Given the description of an element on the screen output the (x, y) to click on. 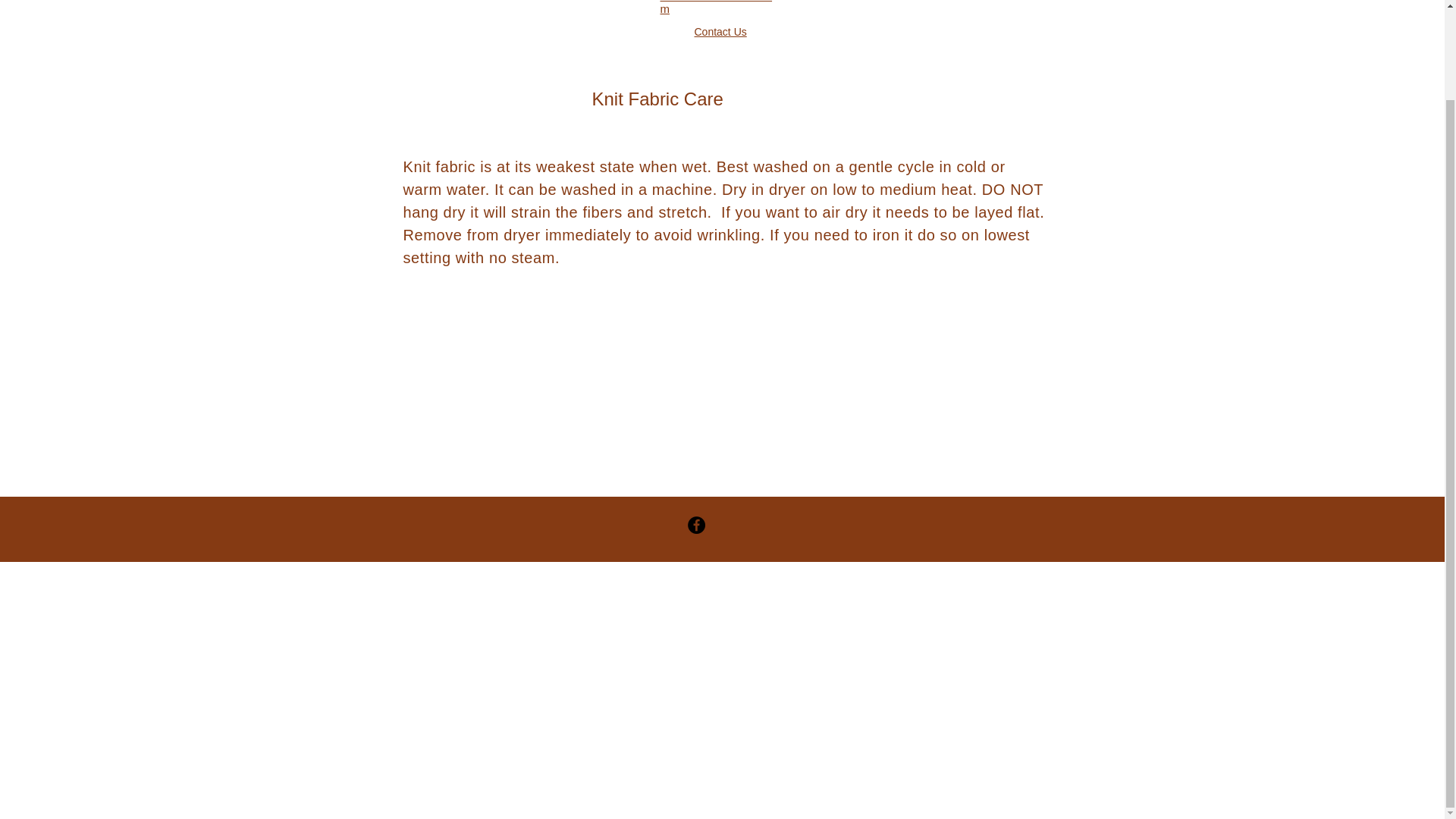
Contact Us (720, 31)
www.schooksfabric.com (715, 7)
